Given the description of an element on the screen output the (x, y) to click on. 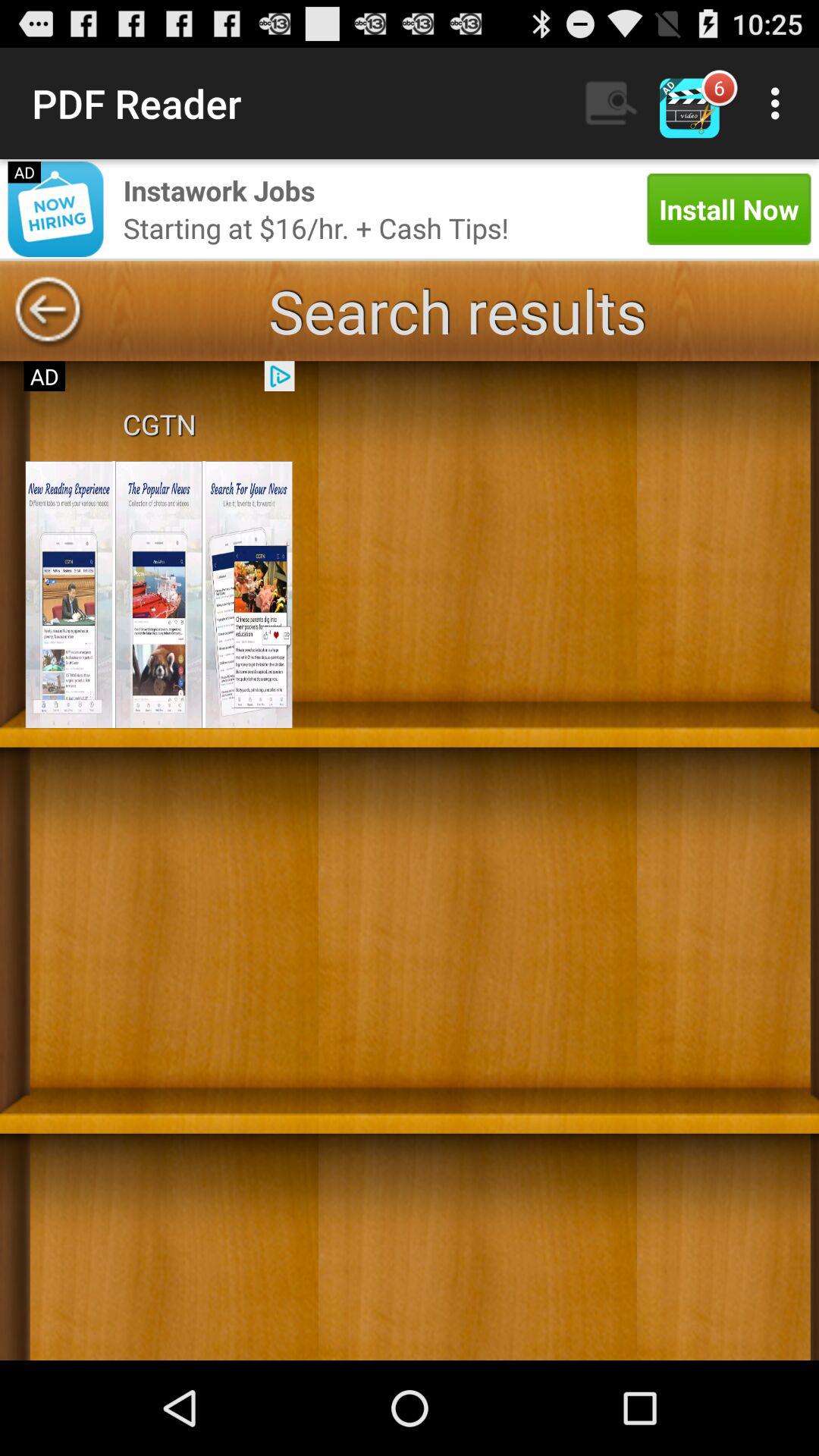
open advertisement (158, 594)
